Given the description of an element on the screen output the (x, y) to click on. 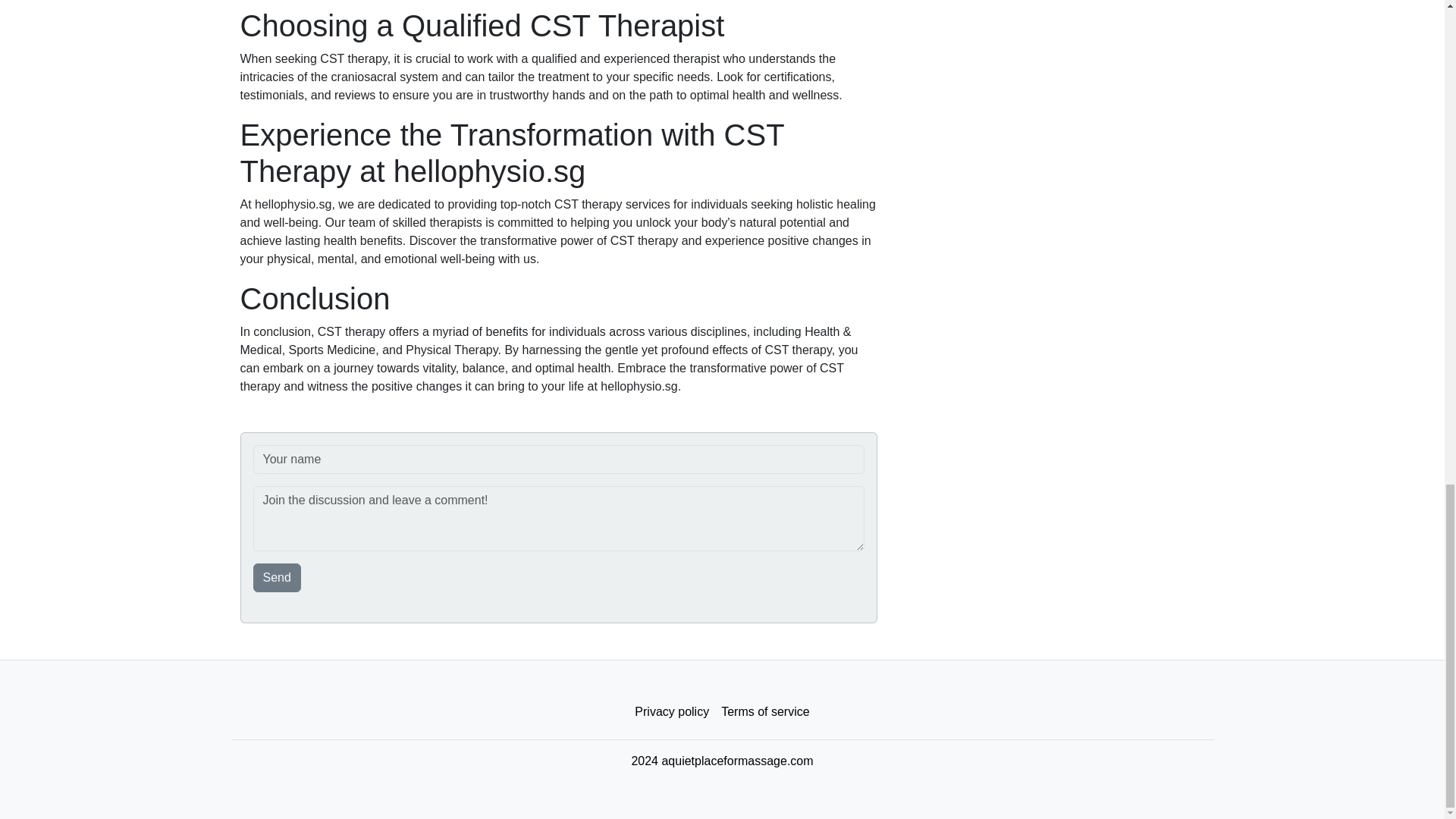
Send (277, 577)
Terms of service (764, 711)
Privacy policy (671, 711)
Send (277, 577)
